Given the description of an element on the screen output the (x, y) to click on. 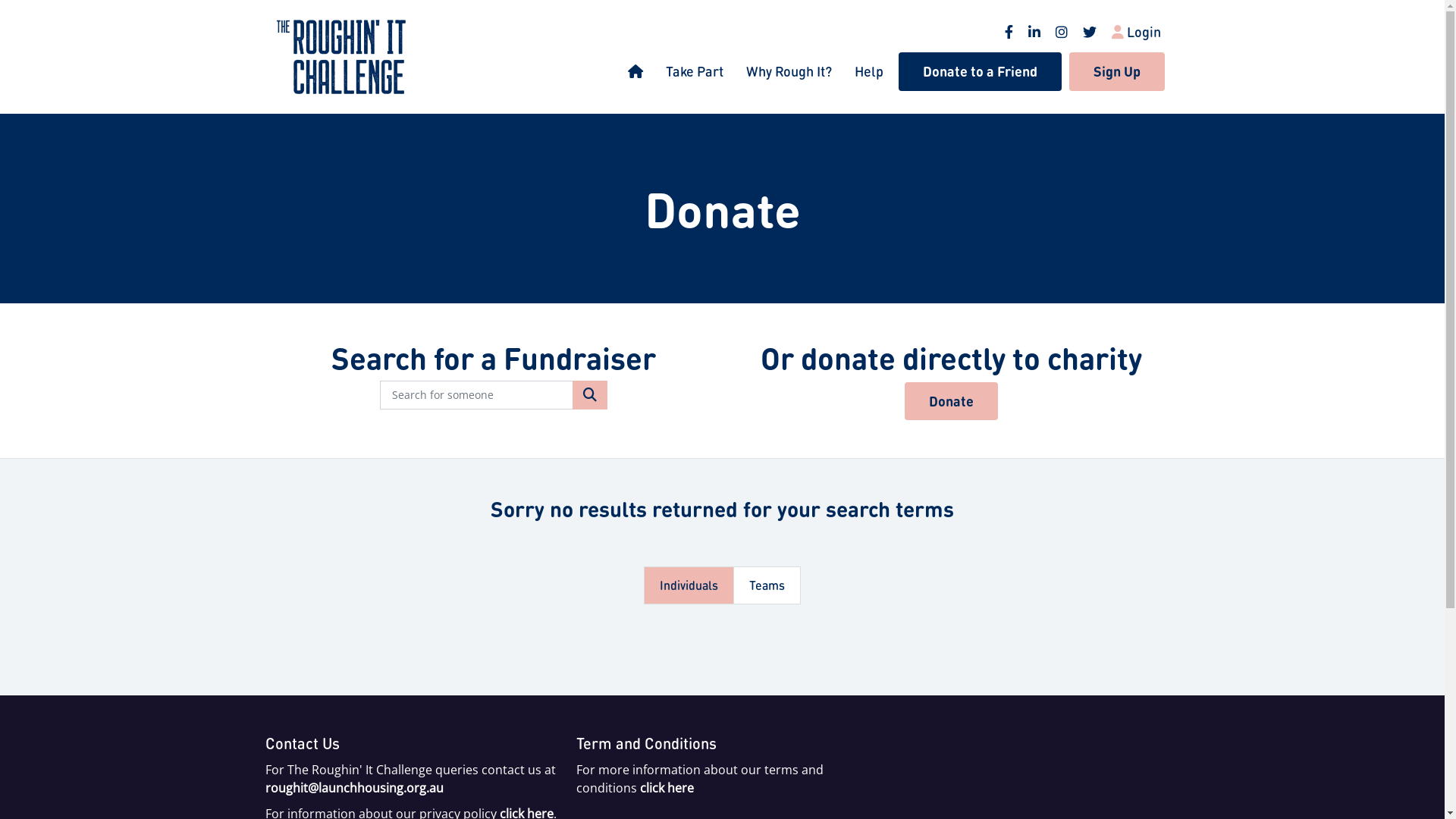
Login Element type: text (1136, 25)
Donate Element type: text (950, 401)
roughit@launchhousing.org.au Element type: text (354, 787)
Help Element type: text (868, 70)
Sign Up Element type: text (1116, 71)
Teams Element type: text (766, 585)
Individuals Element type: text (688, 585)
click here Element type: text (666, 787)
Take Part Element type: text (693, 70)
Donate to a Friend Element type: text (978, 71)
Why Rough It? Element type: text (788, 70)
